Given the description of an element on the screen output the (x, y) to click on. 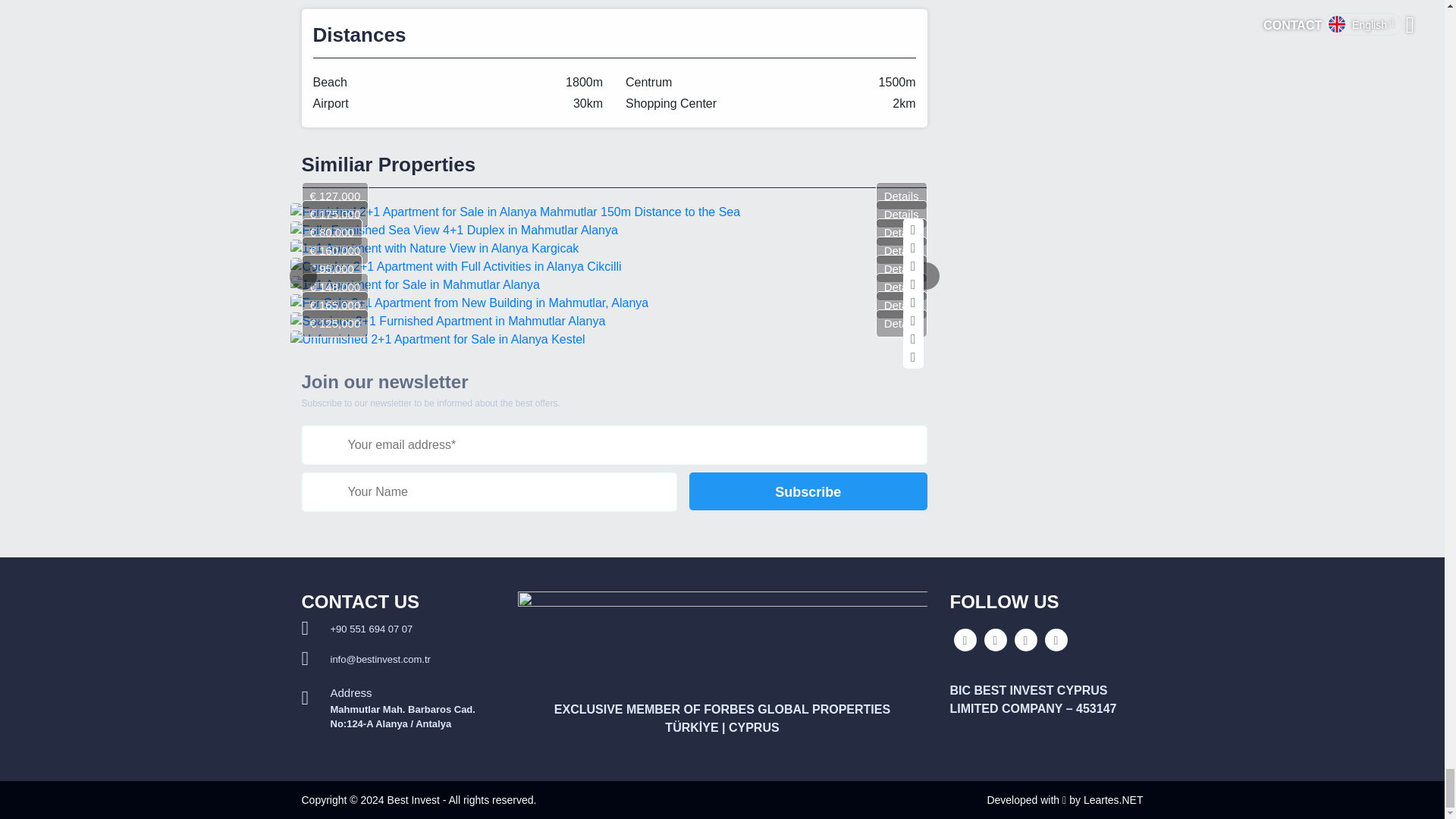
Youtube (1025, 639)
Instagram (995, 639)
LinkedIn (1056, 639)
Facebook (964, 639)
